Given the description of an element on the screen output the (x, y) to click on. 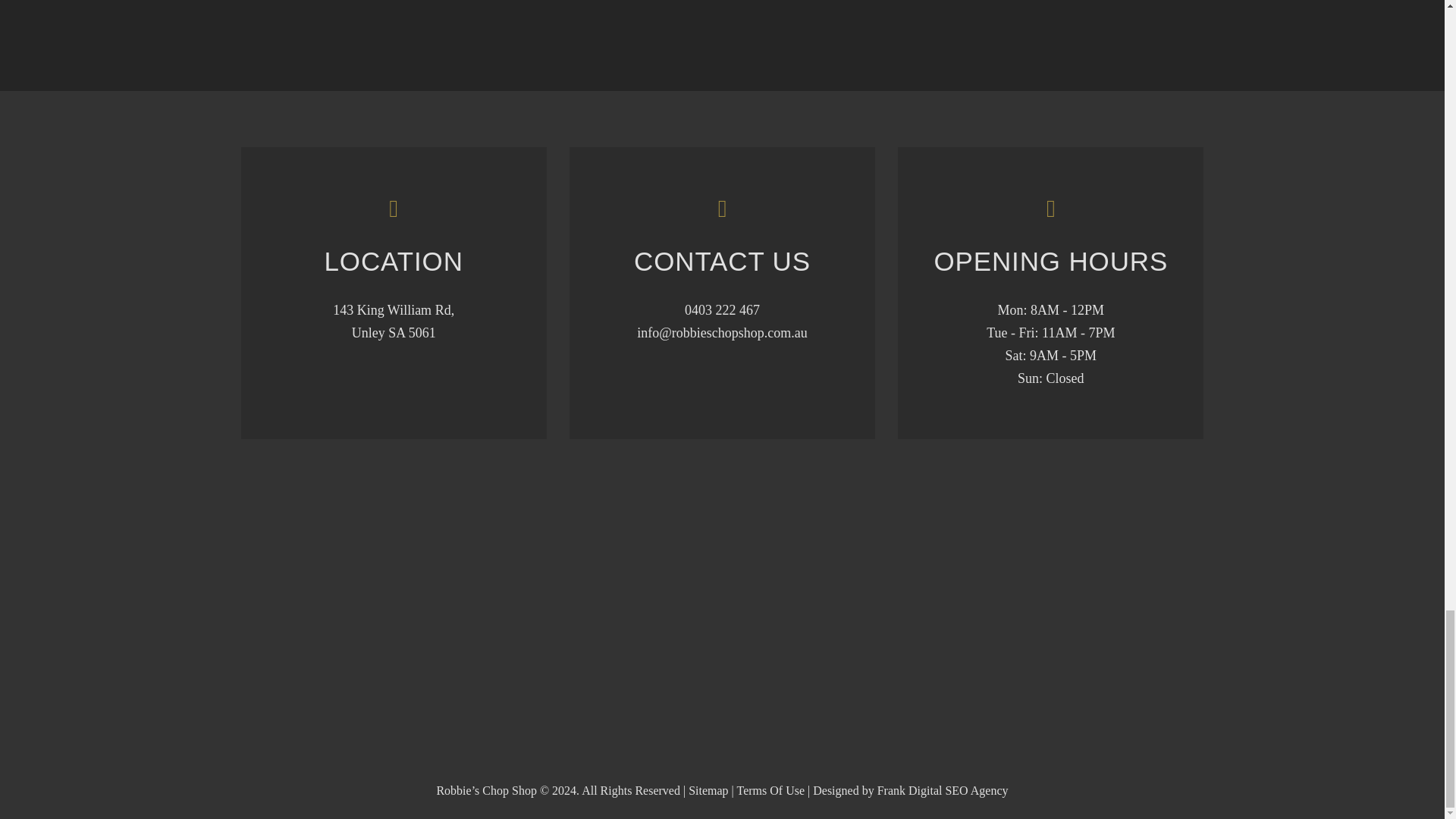
0403 222 467 (722, 309)
